Given the description of an element on the screen output the (x, y) to click on. 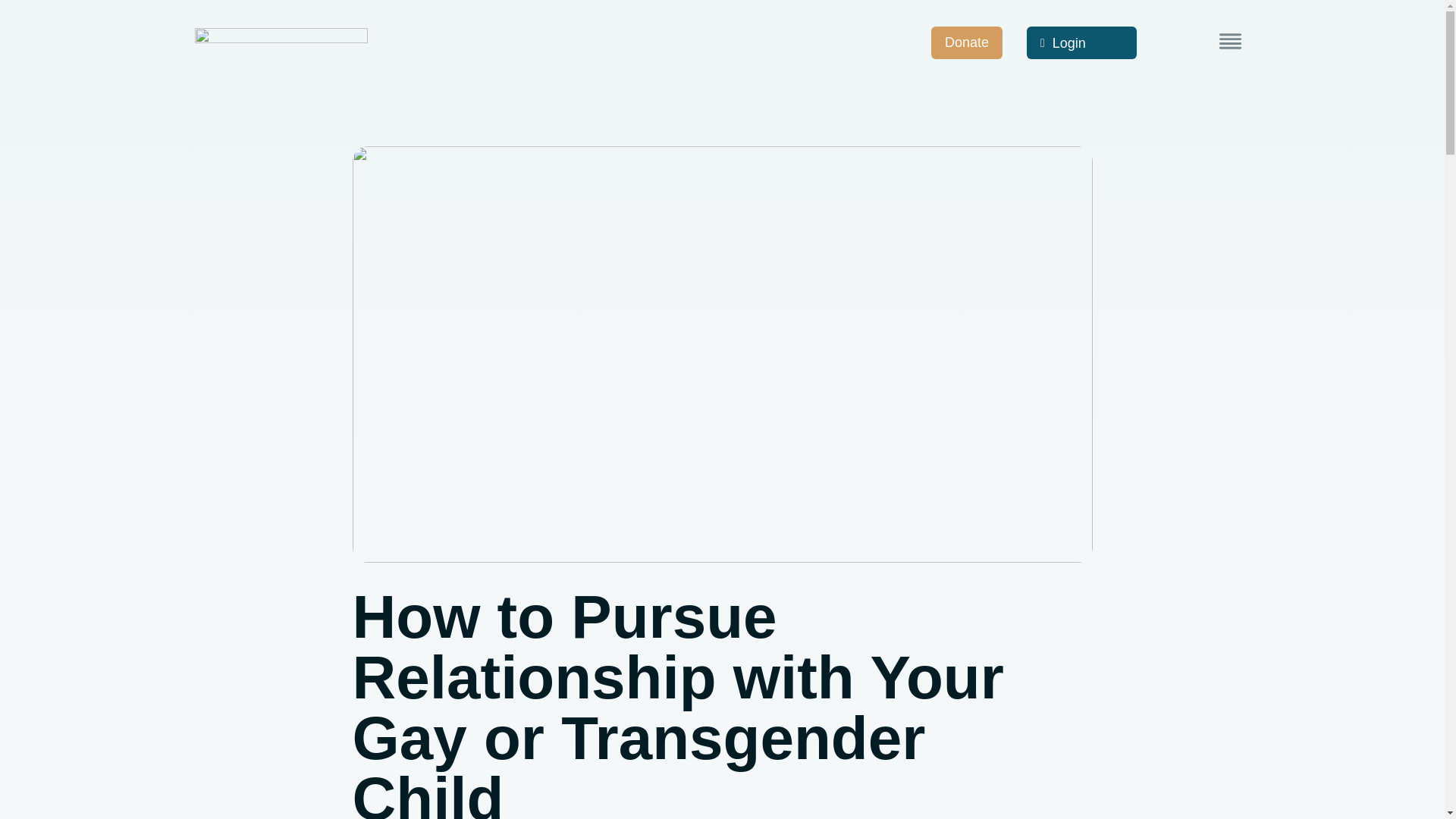
Login (1081, 42)
Donate (967, 42)
Learn More (1230, 41)
